Given the description of an element on the screen output the (x, y) to click on. 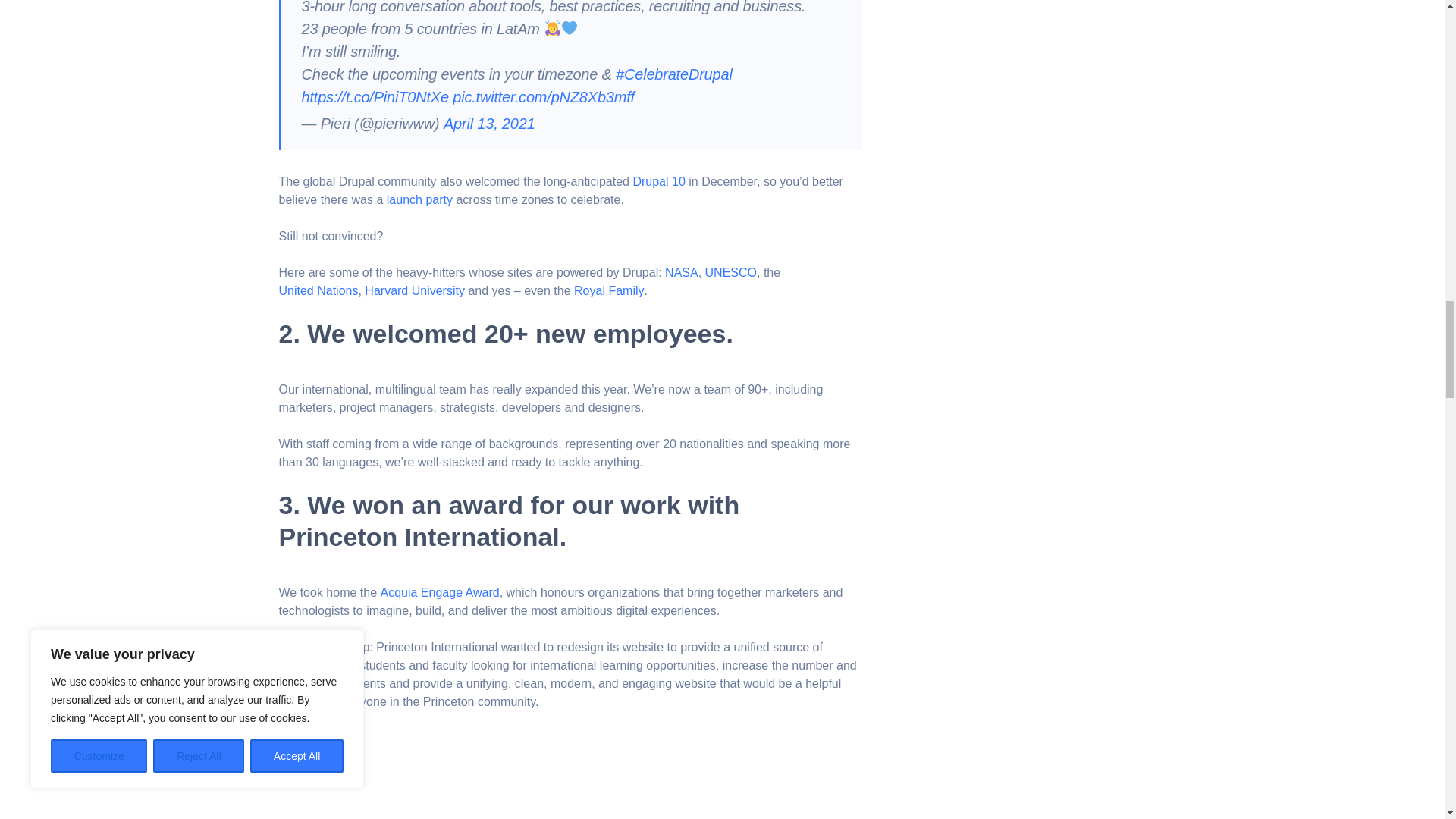
Embedded post (470, 774)
